Given the description of an element on the screen output the (x, y) to click on. 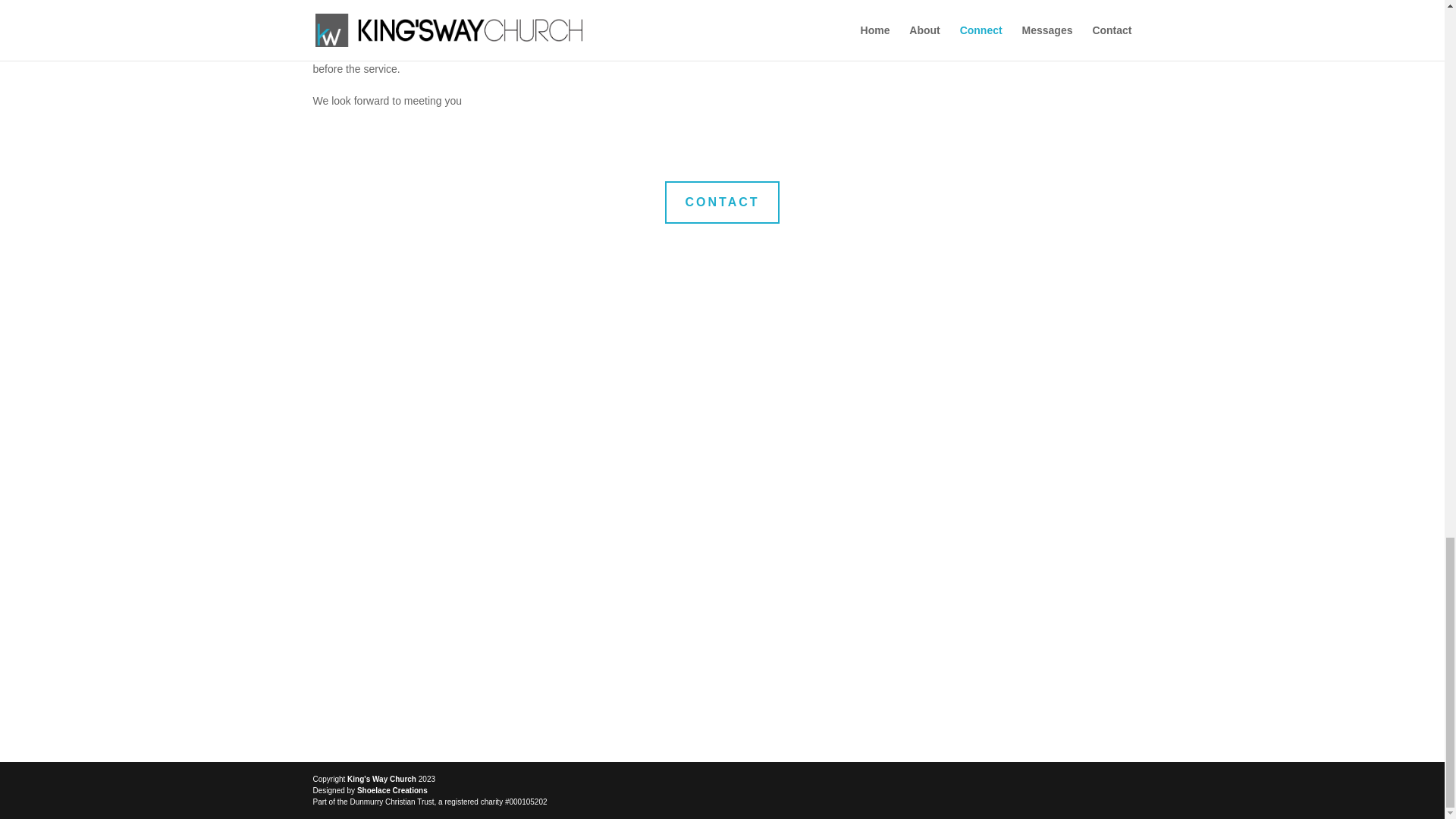
Shoelace Creations (392, 790)
King's Way Church (381, 778)
CONTACT (721, 202)
